Given the description of an element on the screen output the (x, y) to click on. 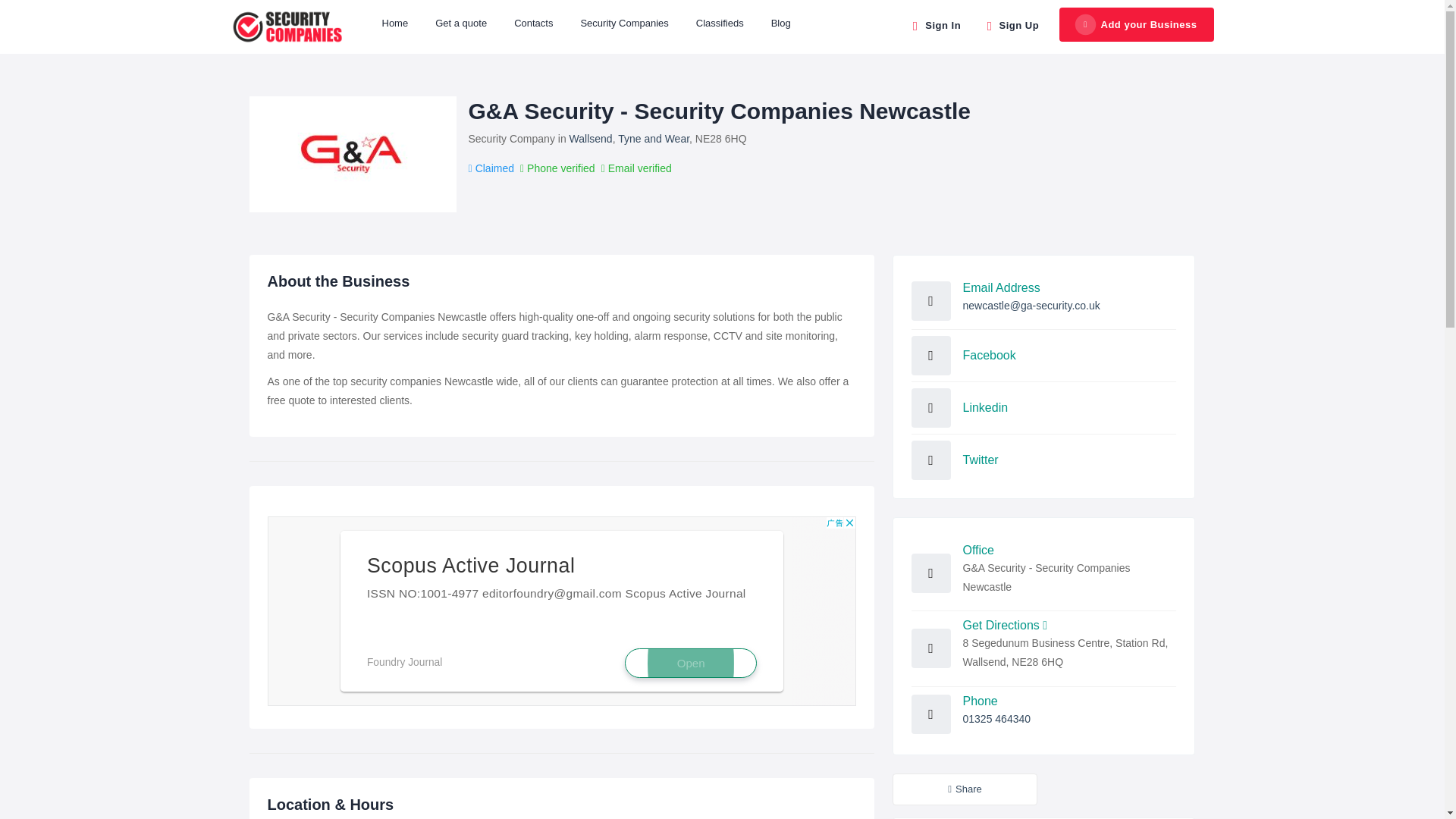
Contacts (533, 22)
Classifieds (719, 22)
Facebook (989, 354)
Get a quote (461, 22)
Home (395, 22)
Tyne and Wear (652, 138)
Advertisement (561, 610)
Sign Up (1011, 23)
Security Companies (623, 22)
Linkedin (985, 407)
